Given the description of an element on the screen output the (x, y) to click on. 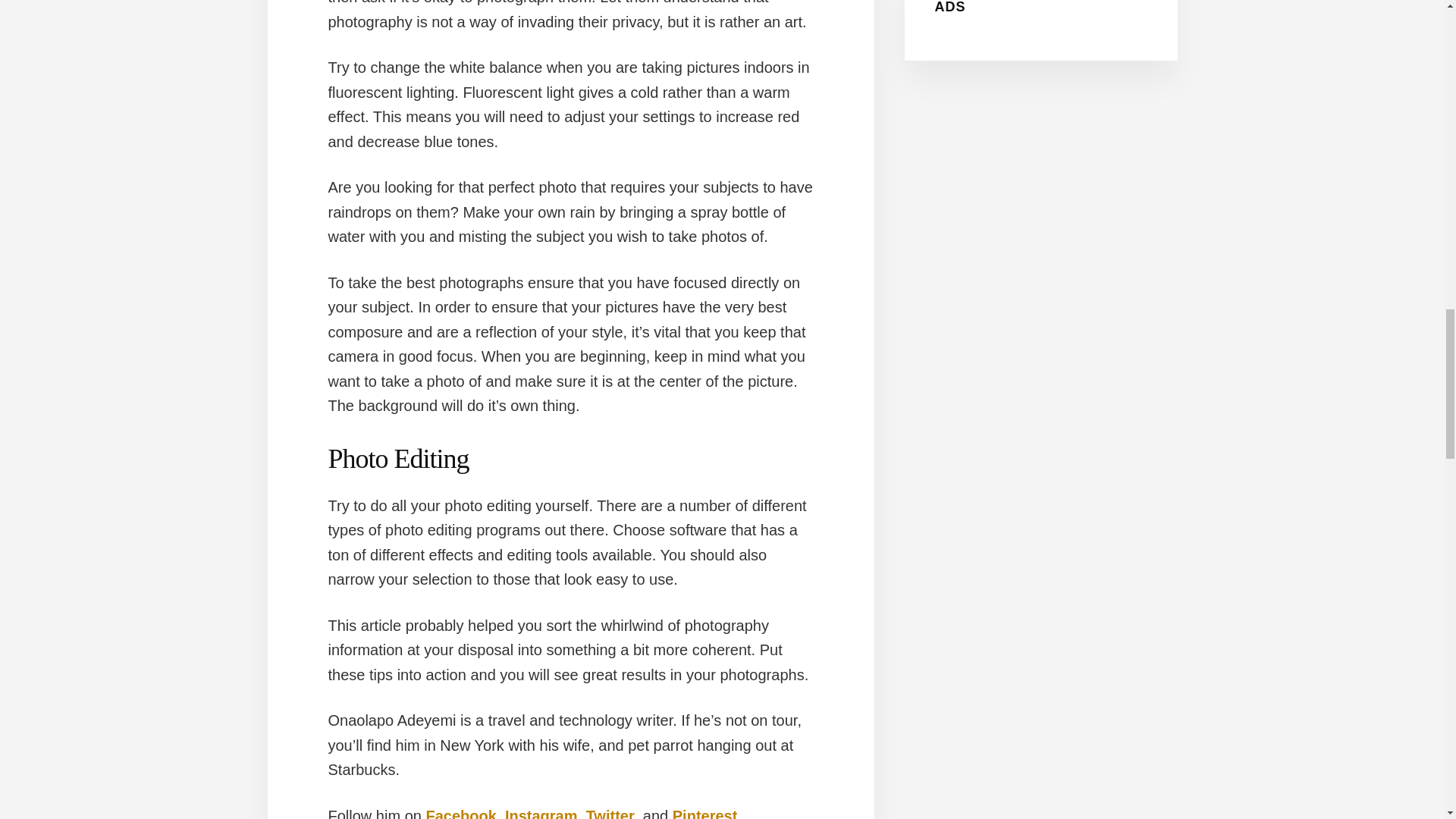
Facebook (460, 813)
Instagram (541, 813)
Twitter (610, 813)
Pinterest (705, 813)
